Given the description of an element on the screen output the (x, y) to click on. 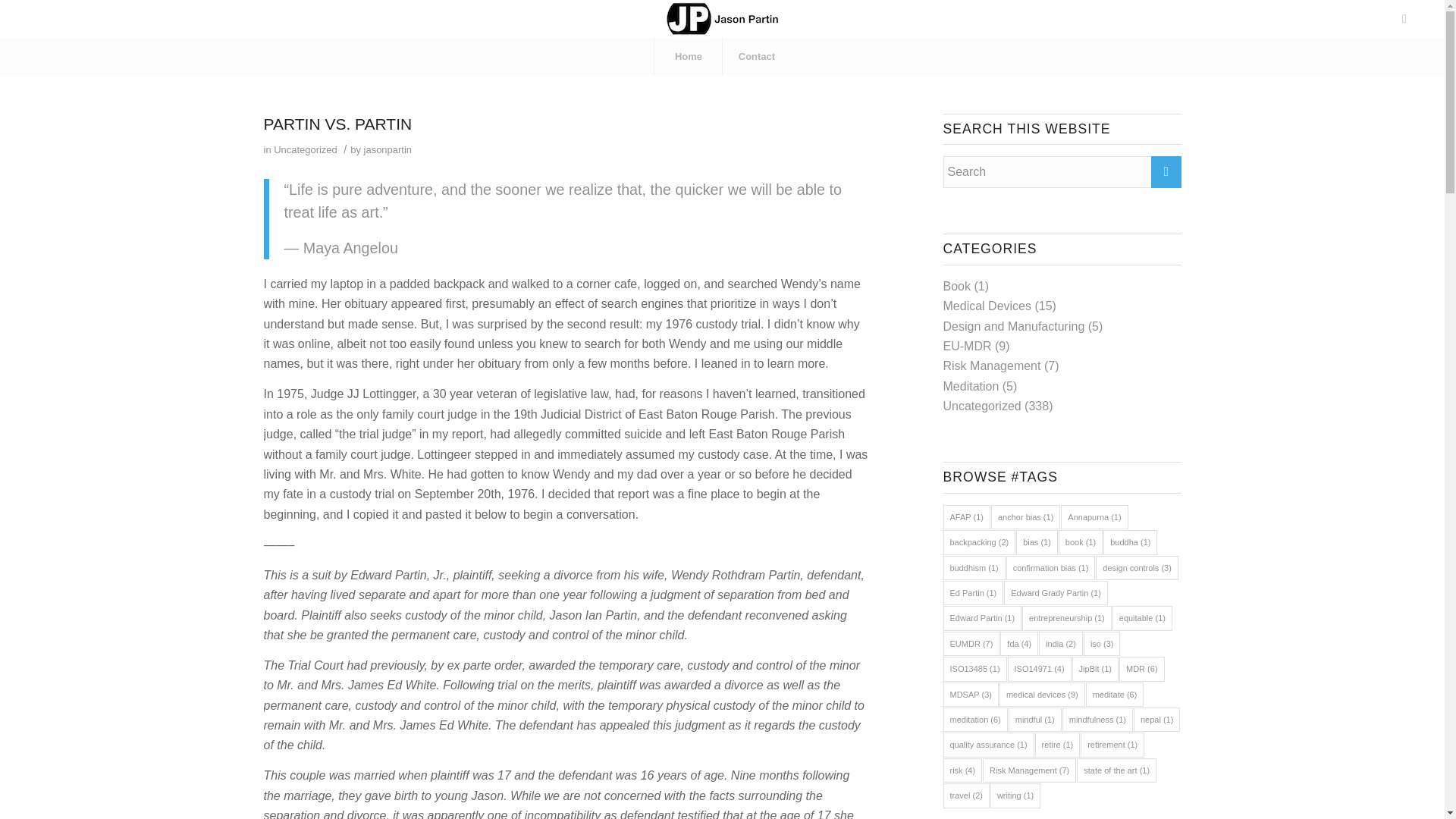
Uncategorized (982, 405)
Book (957, 286)
jasonpartin (388, 149)
Posts by jasonpartin (388, 149)
Linkedin (1404, 18)
PARTIN VS. PARTIN (337, 123)
Design and Manufacturing (1013, 326)
EU-MDR (967, 345)
Home (687, 56)
Medical Devices (986, 305)
